Given the description of an element on the screen output the (x, y) to click on. 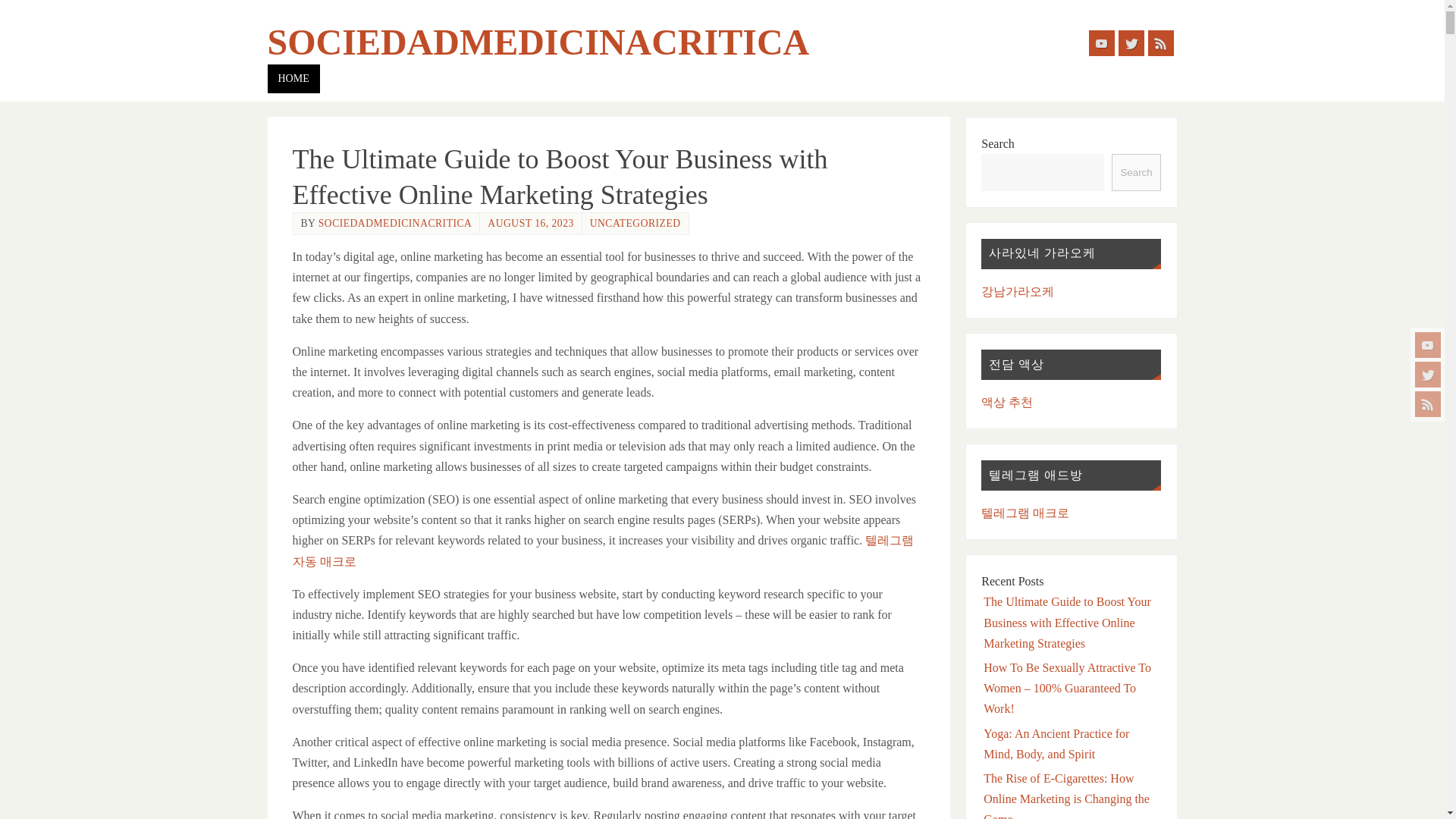
sociedadmedicinacritica (537, 42)
SOCIEDADMEDICINACRITICA (537, 42)
HOME (292, 78)
AUGUST 16, 2023 (530, 223)
SOCIEDADMEDICINACRITICA (394, 223)
YouTube (1102, 43)
View all posts by sociedadmedicinacritica (394, 223)
Twitter (1428, 374)
UNCATEGORIZED (635, 223)
Twitter (1130, 43)
RSS (1428, 403)
YouTube (1428, 344)
RSS (1160, 43)
